Given the description of an element on the screen output the (x, y) to click on. 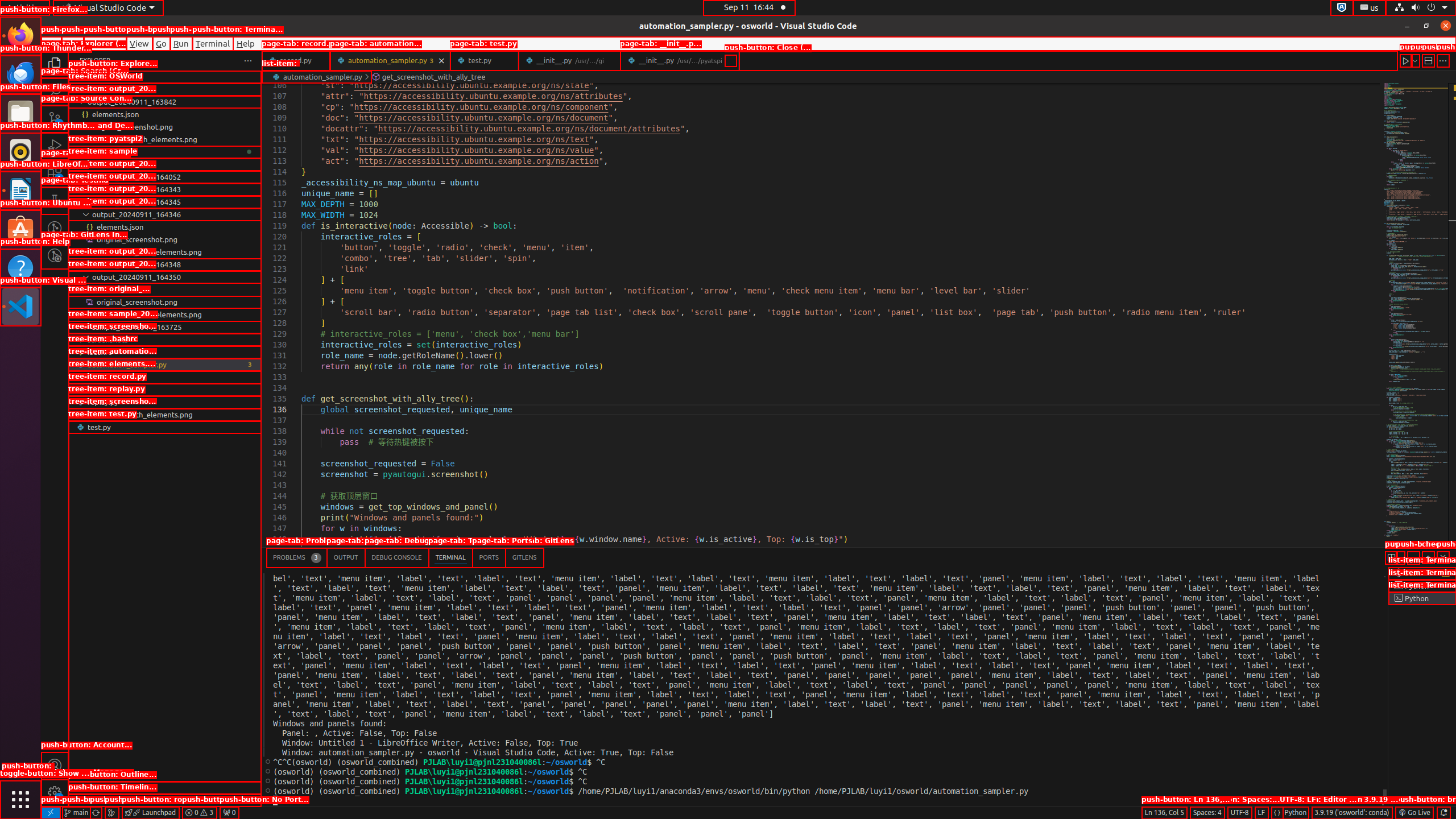
Ports Element type: page-tab (488, 557)
Warnings: 3 Element type: push-button (199, 812)
UTF-8 Element type: push-button (1239, 812)
test.py Element type: tree-item (164, 426)
